Given the description of an element on the screen output the (x, y) to click on. 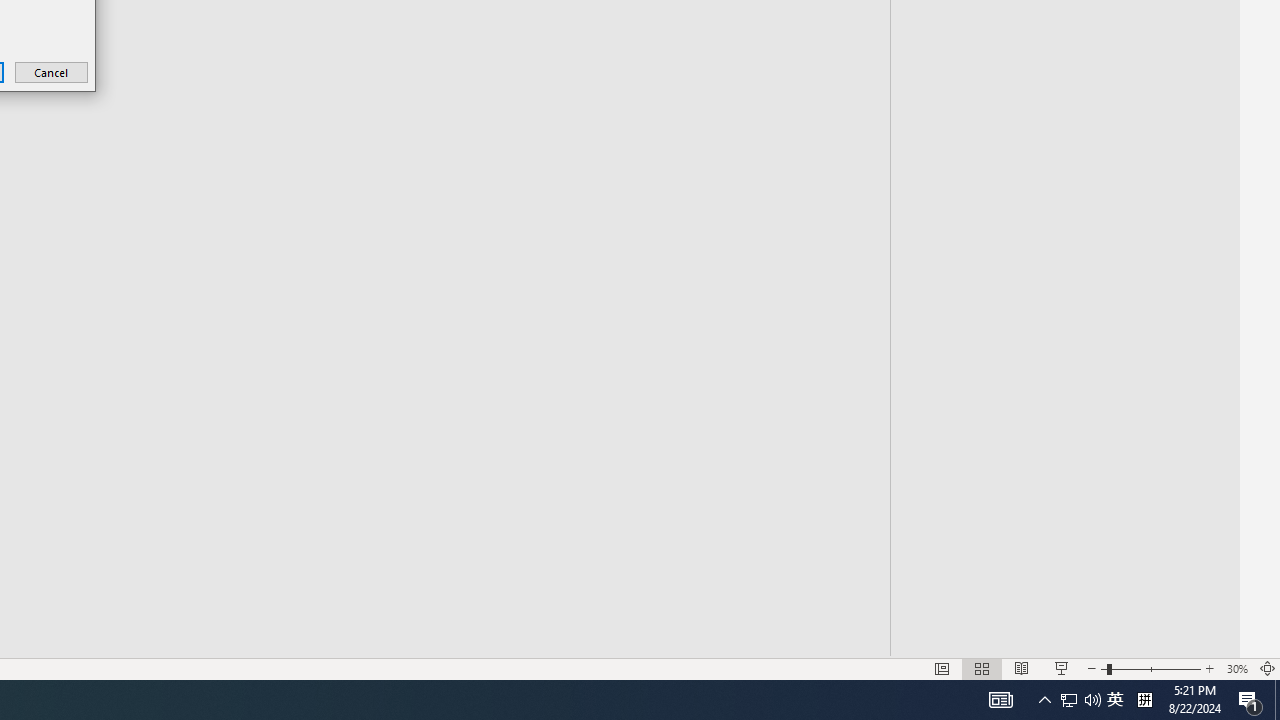
AutomationID: 4105 (1000, 699)
Notification Chevron (1044, 699)
Tray Input Indicator - Chinese (Simplified, China) (1144, 699)
